Given the description of an element on the screen output the (x, y) to click on. 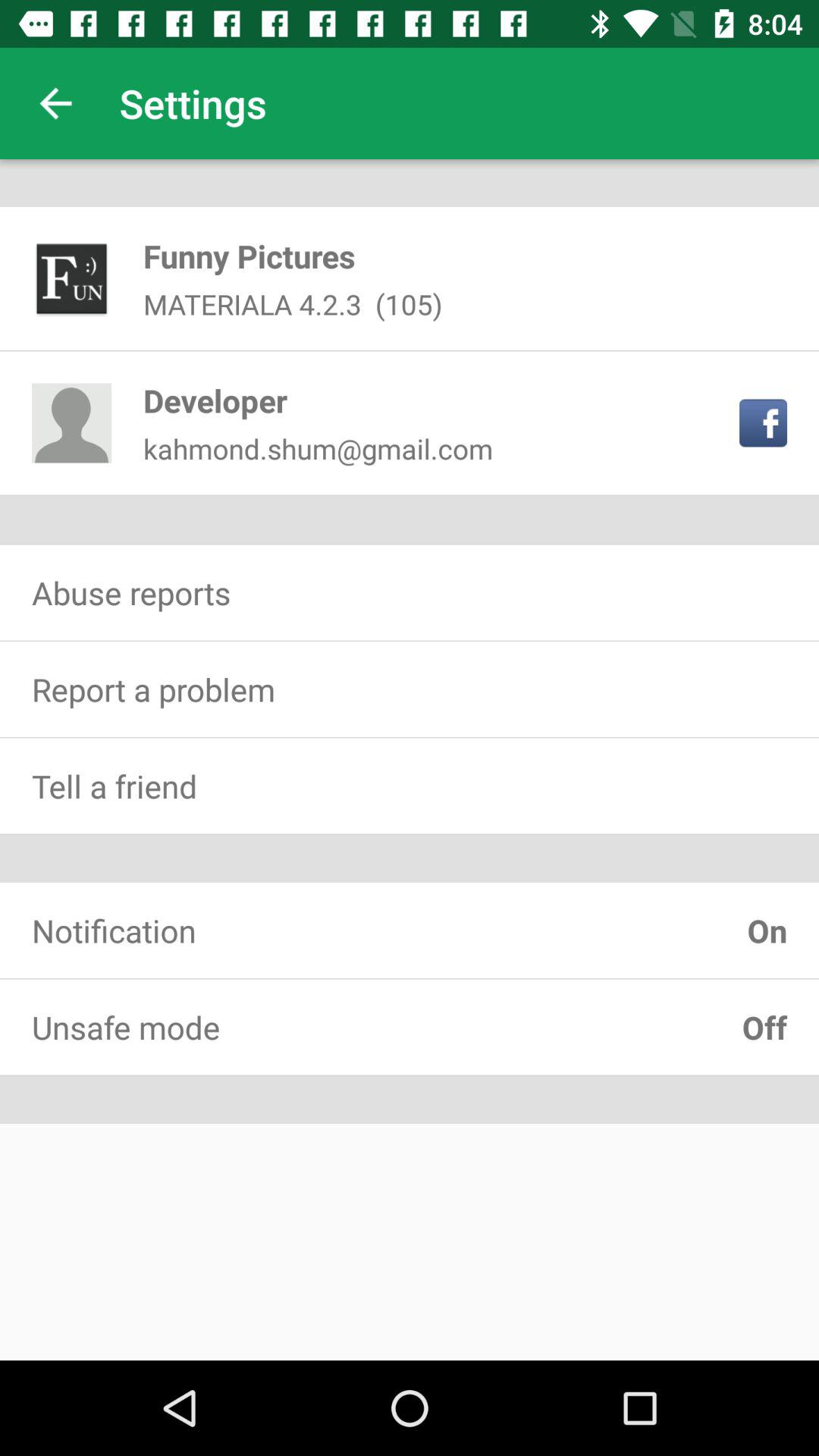
choose the report a problem item (409, 689)
